Given the description of an element on the screen output the (x, y) to click on. 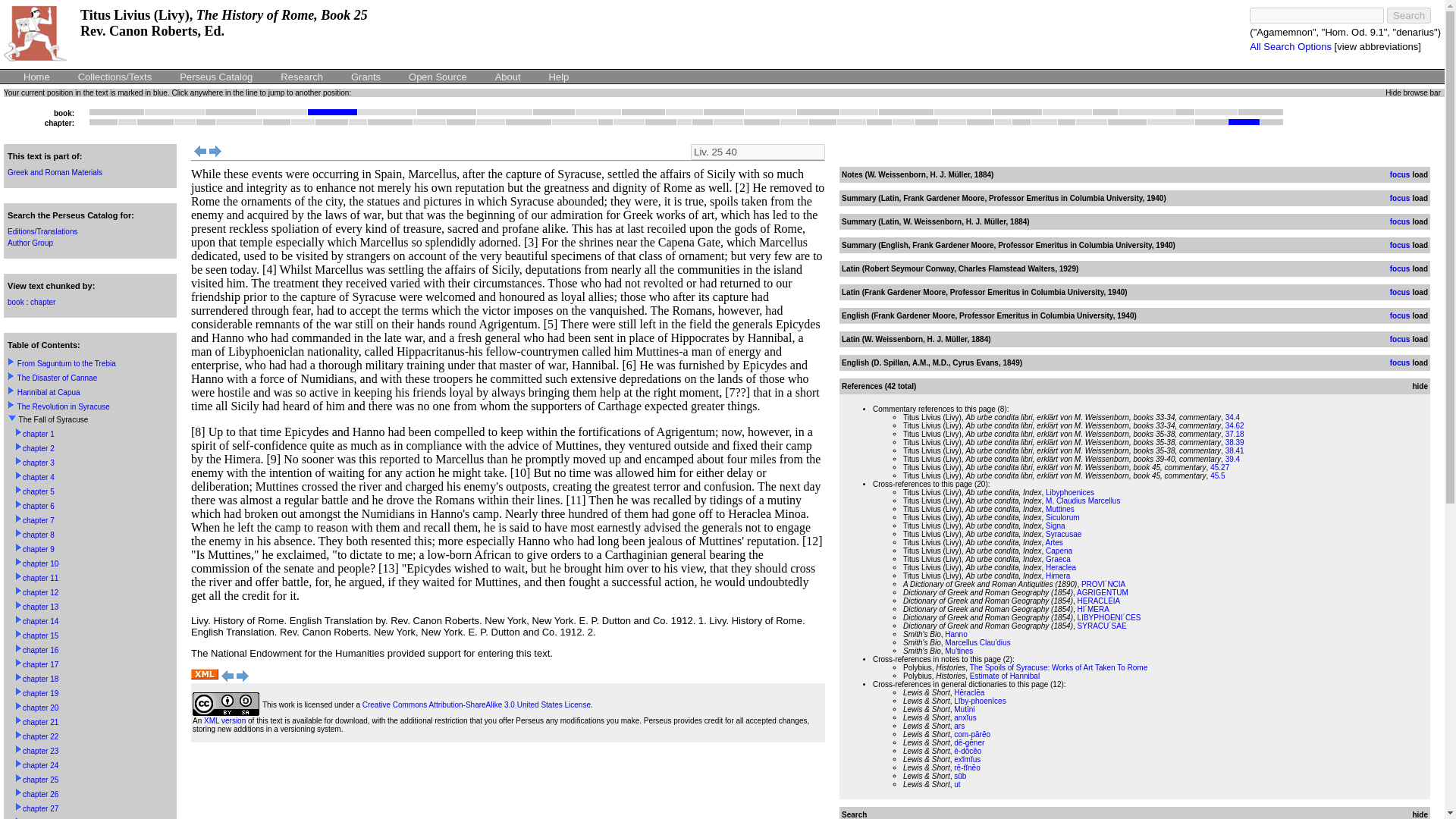
Search (643, 111)
Perseus Catalog (504, 111)
